Given the description of an element on the screen output the (x, y) to click on. 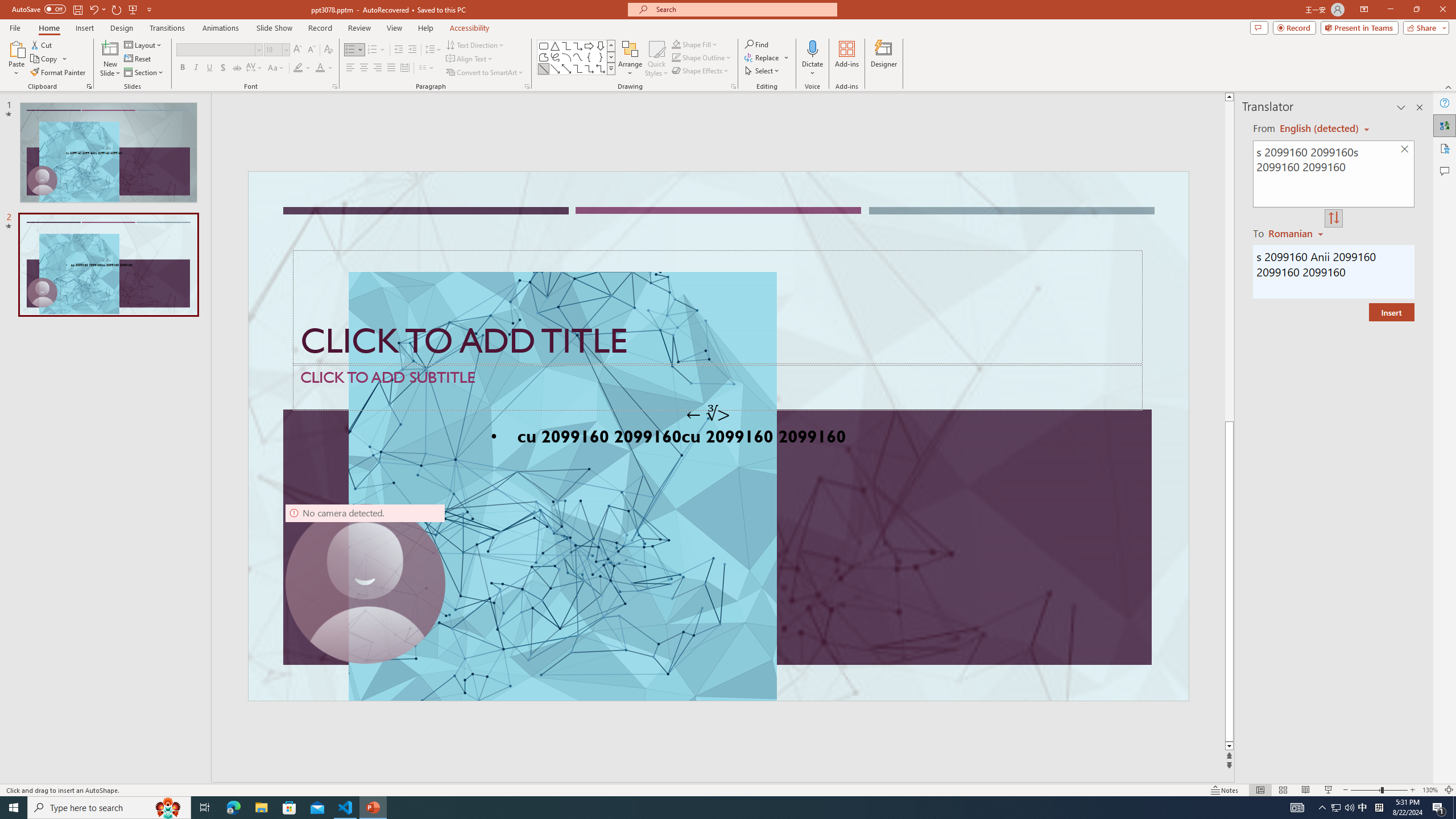
Shape Fill Dark Green, Accent 2 (675, 44)
